Given the description of an element on the screen output the (x, y) to click on. 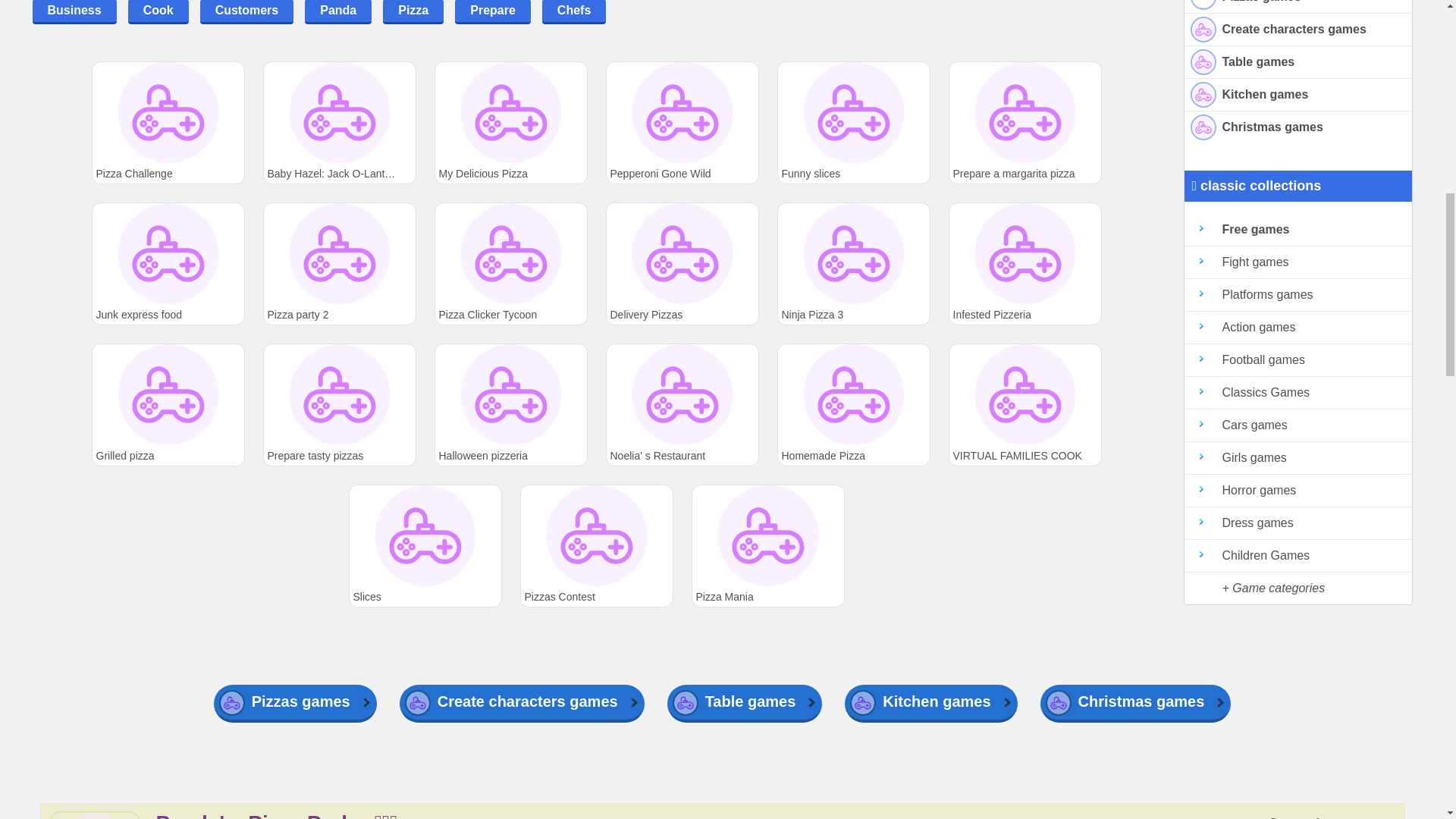
Girls games (1298, 458)
Free Fight games, Fight and fights (1298, 262)
Cars games (1298, 425)
Panda (337, 12)
Fight games (1298, 262)
Free Platforms games (1298, 295)
Free Christmas games, Santa Claus gifts (1298, 127)
Christmas games (1298, 127)
Classics Games (1298, 392)
Free games (1298, 229)
